Given the description of an element on the screen output the (x, y) to click on. 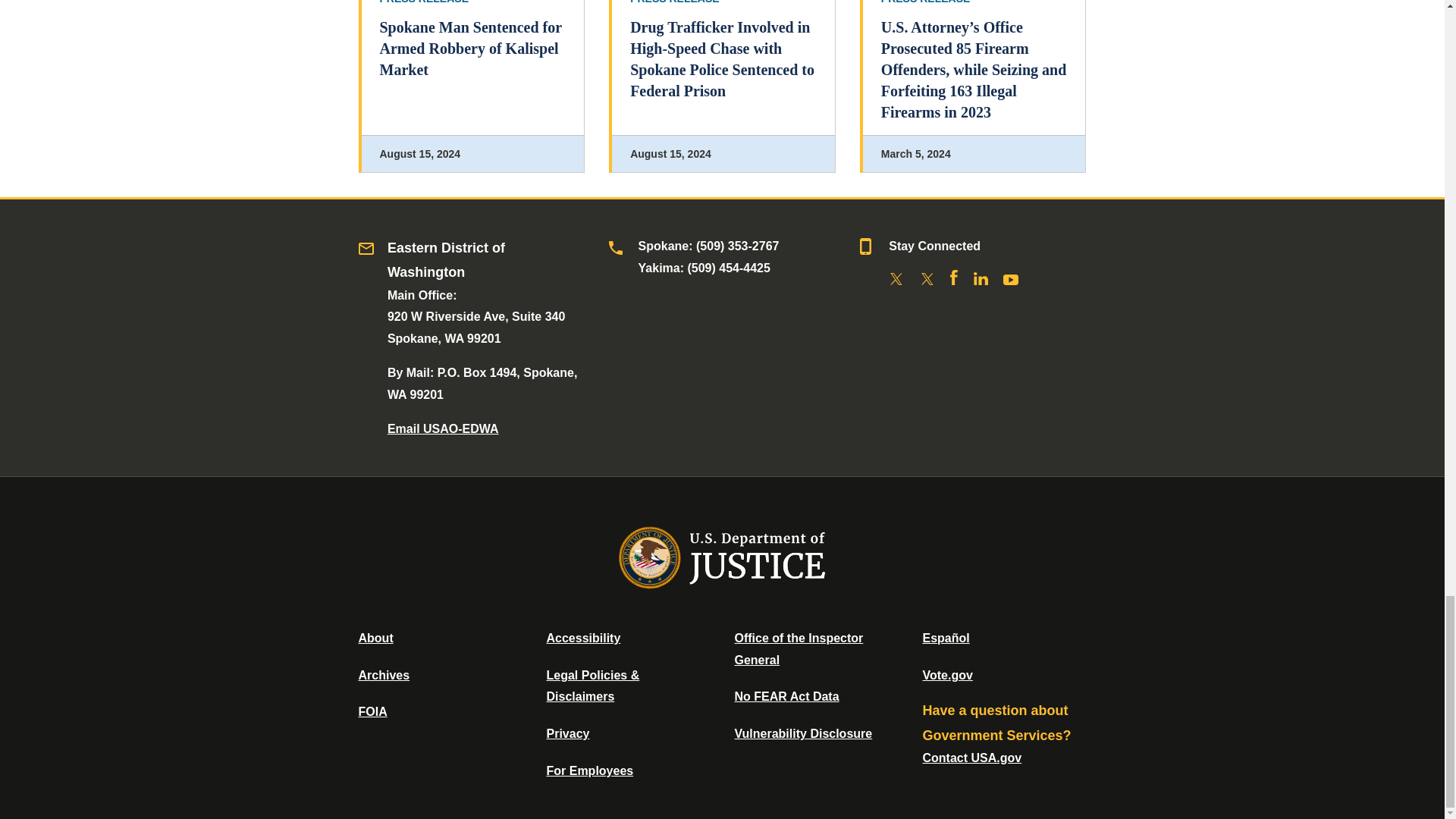
For Employees (589, 770)
Accessibility Statement (583, 637)
Office of Information Policy (372, 711)
About DOJ (375, 637)
Department of Justice Archive (383, 675)
Legal Policies and Disclaimers (592, 686)
Data Posted Pursuant To The No Fear Act (785, 696)
